Given the description of an element on the screen output the (x, y) to click on. 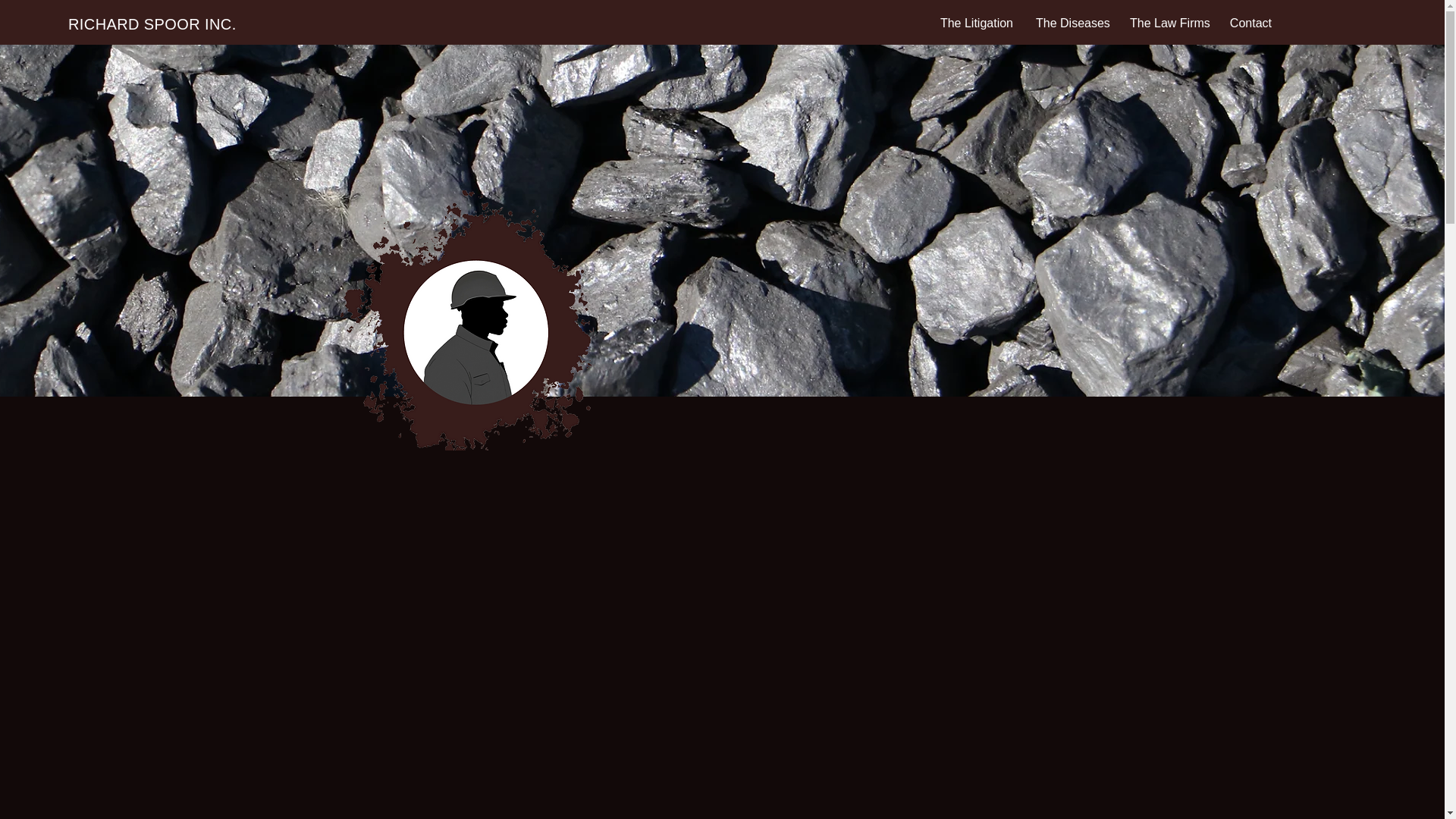
The Litigation (976, 23)
RICHARD SPOOR INC. (151, 23)
The Diseases (1071, 23)
Contact (1249, 23)
The Law Firms (1167, 23)
